Given the description of an element on the screen output the (x, y) to click on. 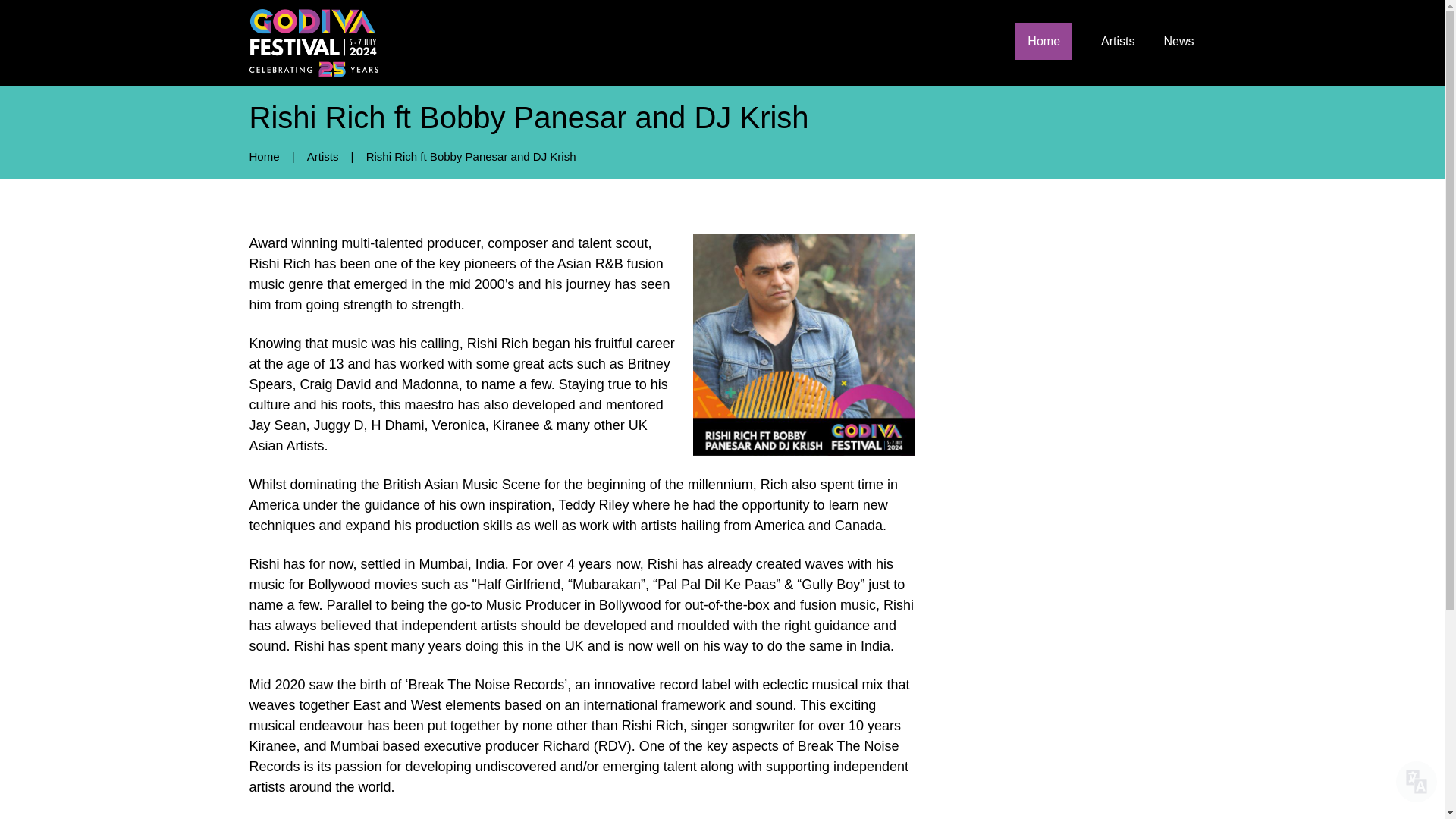
Home (263, 156)
Listen with the ReachDeck Toolbar (1416, 781)
Home (1042, 40)
Artists (323, 156)
News (1178, 41)
Artists (1117, 41)
